Given the description of an element on the screen output the (x, y) to click on. 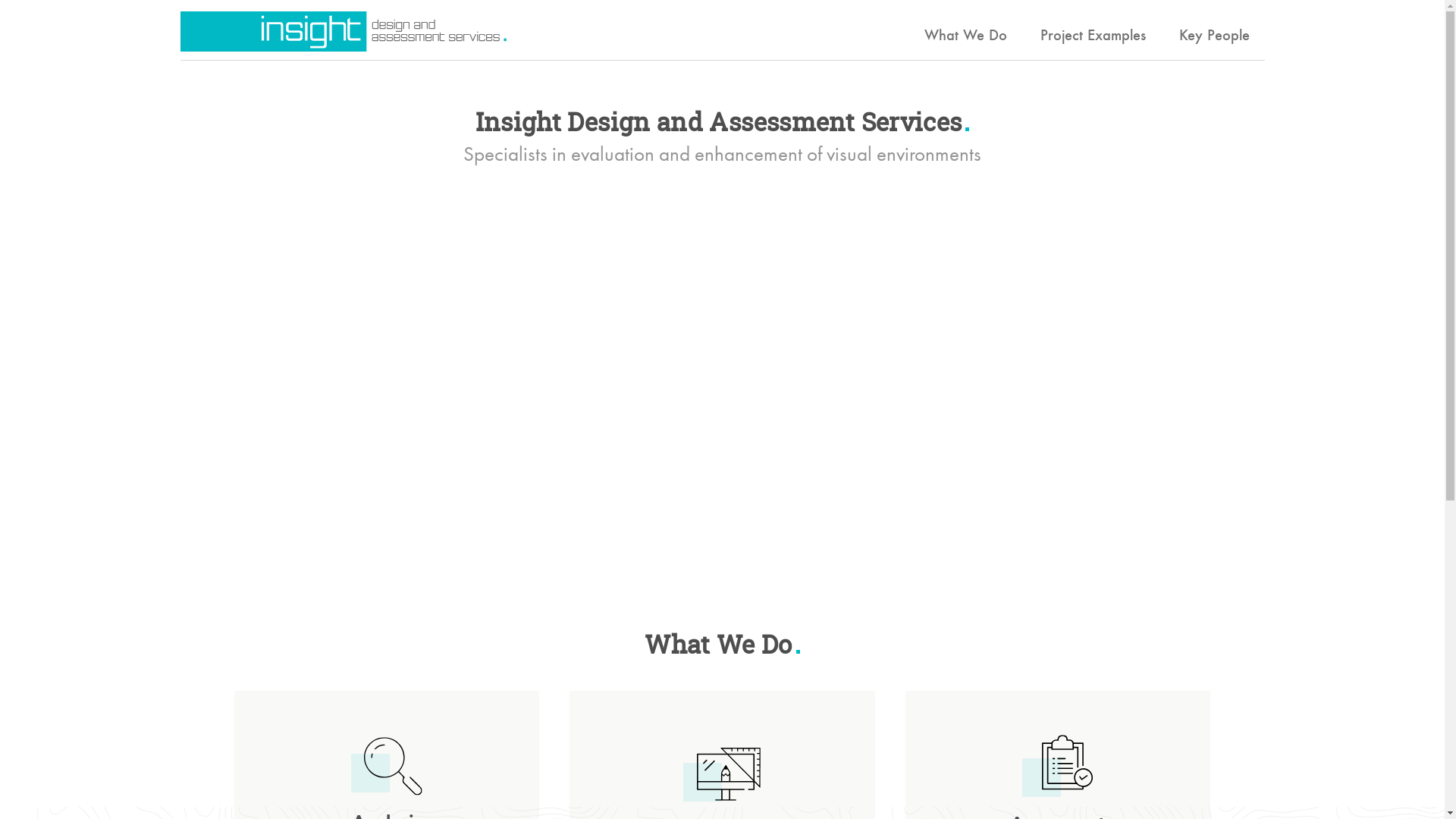
Project Examples Element type: text (1093, 35)
What We Do Element type: text (964, 35)
Key People Element type: text (1213, 35)
